Given the description of an element on the screen output the (x, y) to click on. 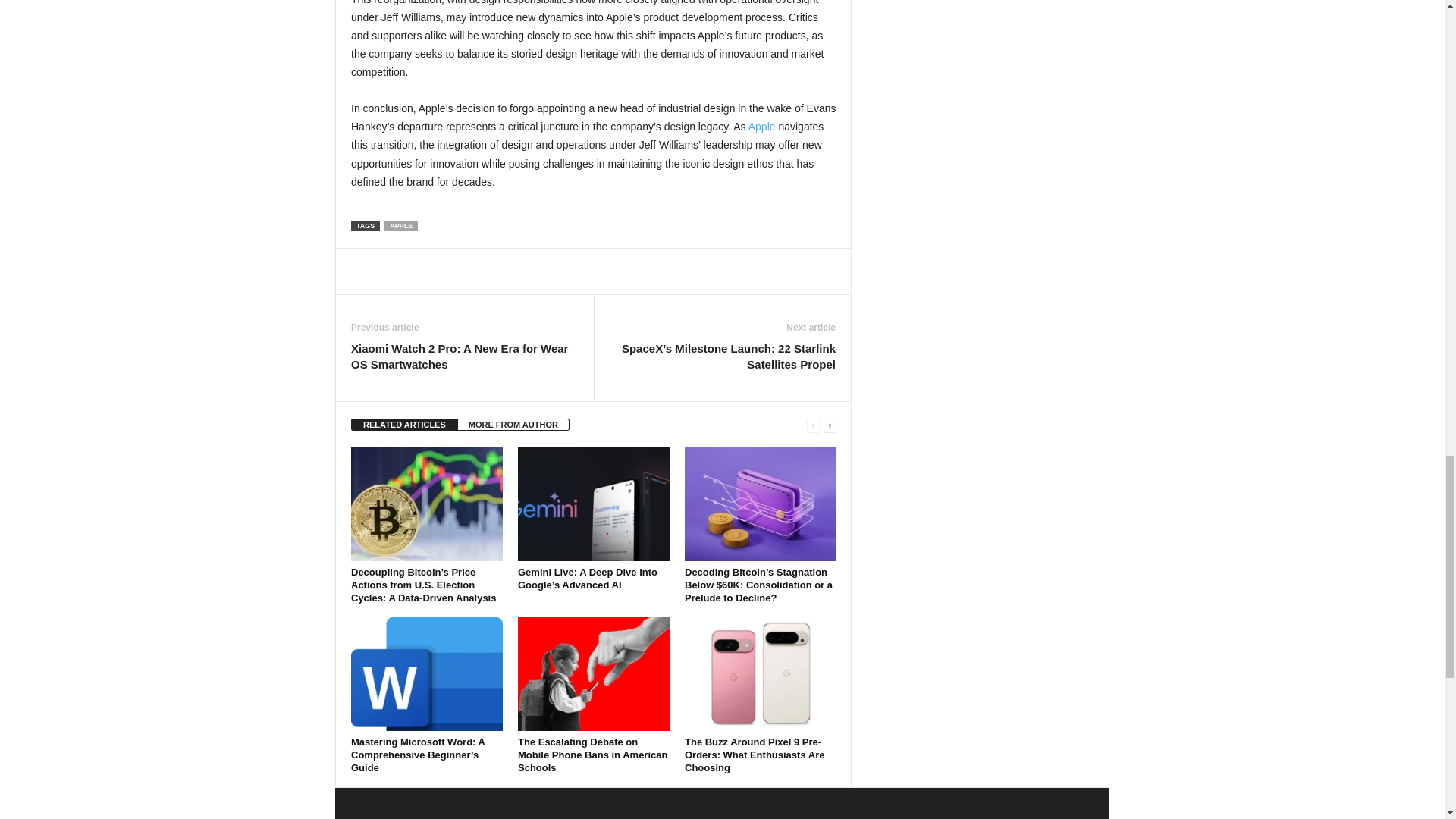
RELATED ARTICLES (404, 424)
Xiaomi Watch 2 Pro: A New Era for Wear OS Smartwatches (464, 356)
Apple (762, 126)
APPLE (400, 225)
MORE FROM AUTHOR (513, 424)
